Given the description of an element on the screen output the (x, y) to click on. 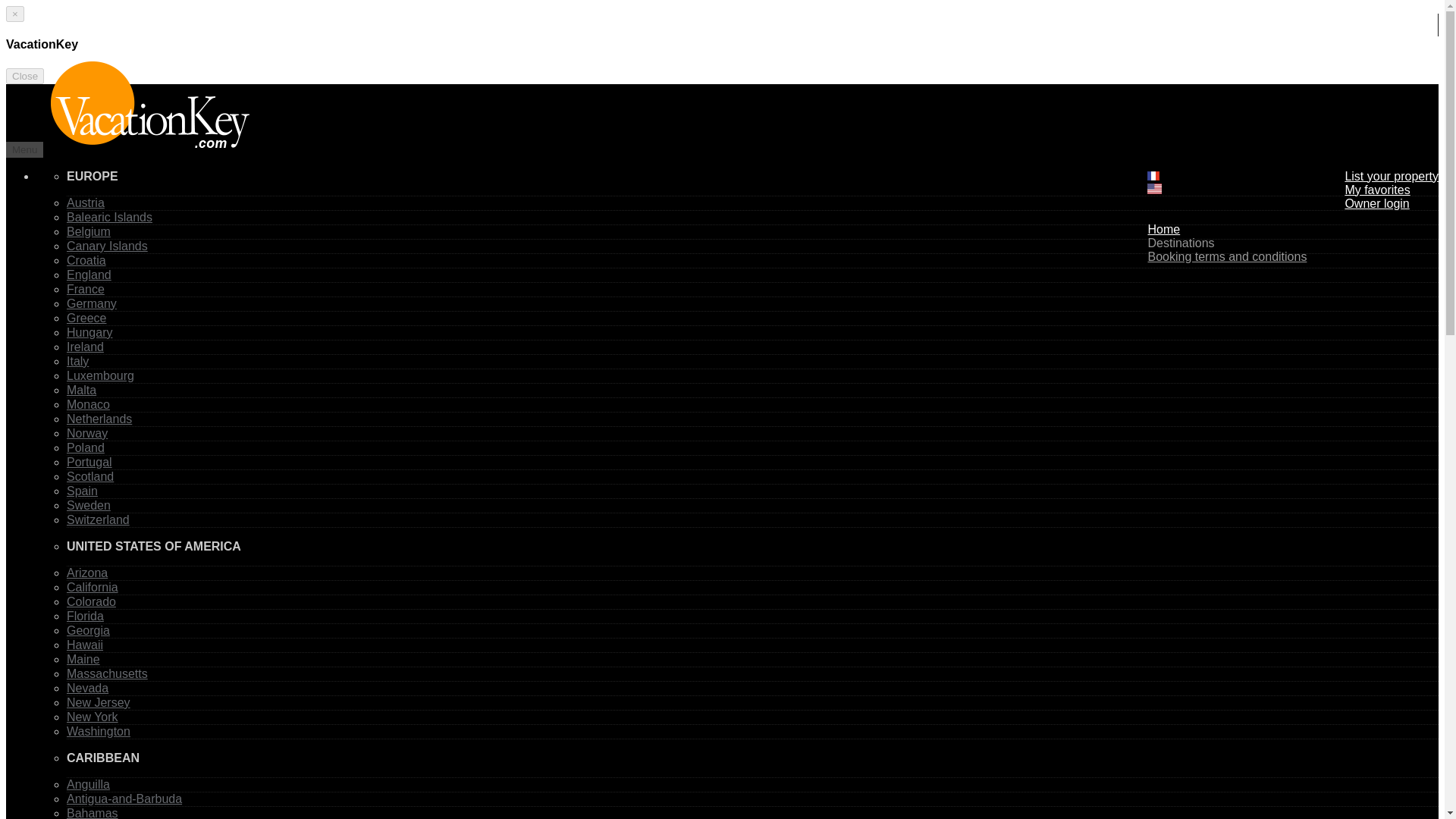
Netherlands (99, 418)
Spain (81, 490)
Booking terms and conditions (1226, 256)
Belgium (88, 231)
England (89, 274)
Scotland (89, 476)
Florida (84, 615)
Norway (86, 432)
Greece (86, 318)
France (85, 288)
Home (1163, 228)
Sweden (88, 504)
Austria (85, 202)
Arizona (86, 572)
Croatia (86, 259)
